Given the description of an element on the screen output the (x, y) to click on. 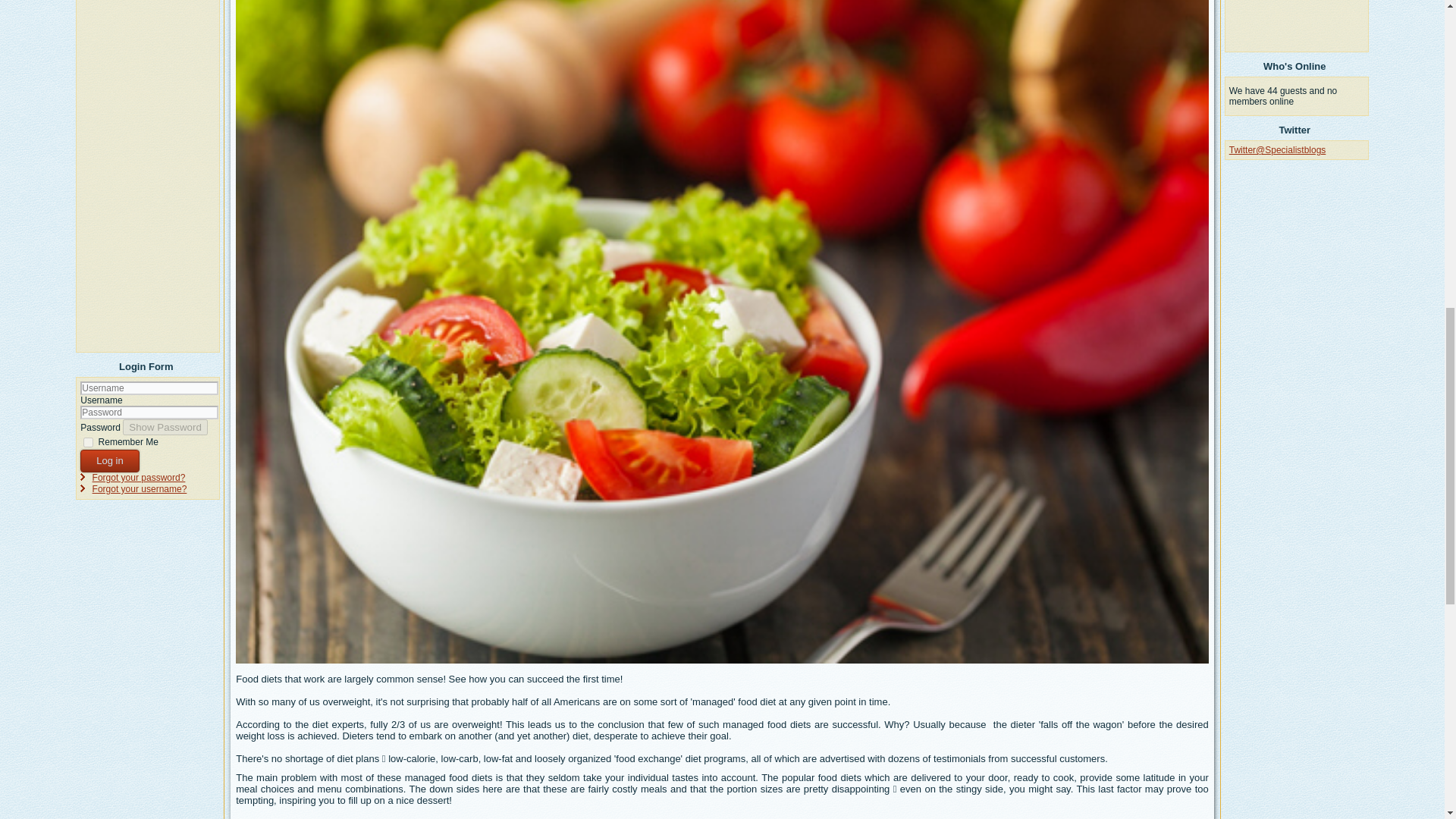
Forgot your password? (139, 477)
Log in (109, 460)
Advertisement (1296, 23)
Forgot your username? (140, 489)
Show Password (165, 426)
yes (87, 442)
